Given the description of an element on the screen output the (x, y) to click on. 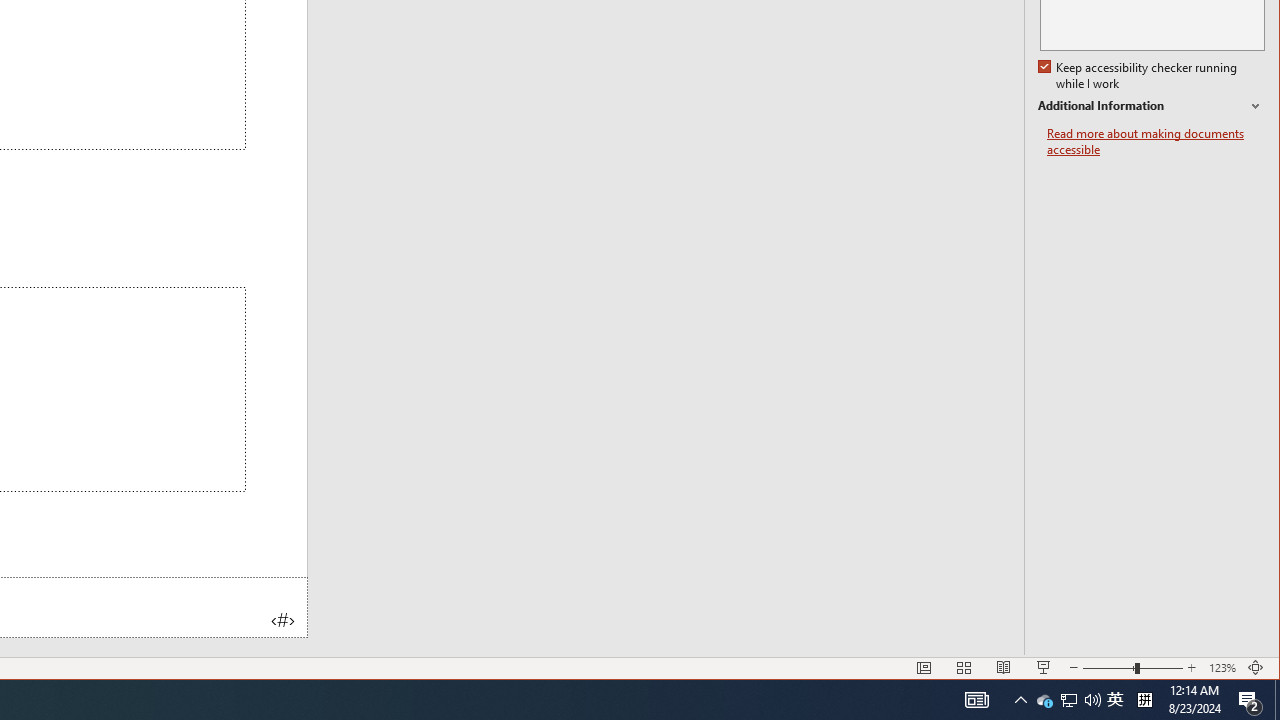
Read more about making documents accessible (1155, 142)
Additional Information (1151, 106)
Keep accessibility checker running while I work (1139, 76)
Action Center, 2 new notifications (1044, 699)
